Given the description of an element on the screen output the (x, y) to click on. 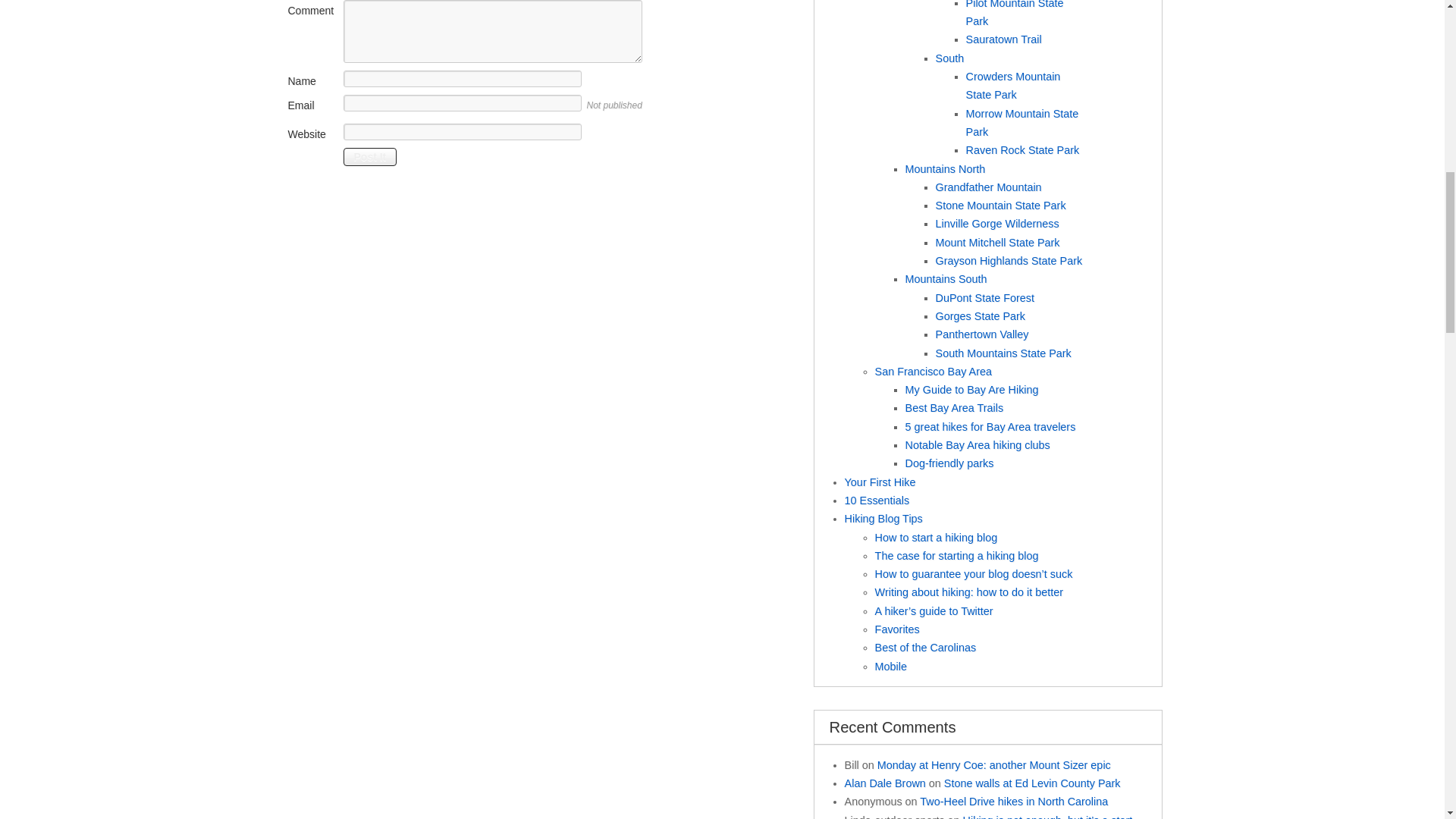
My 10 Essentials for Happy Hiking (877, 500)
Post It (369, 157)
My favorite hiking blogs (897, 629)
Where to hike in the San Francisco Bay Area (972, 389)
